Given the description of an element on the screen output the (x, y) to click on. 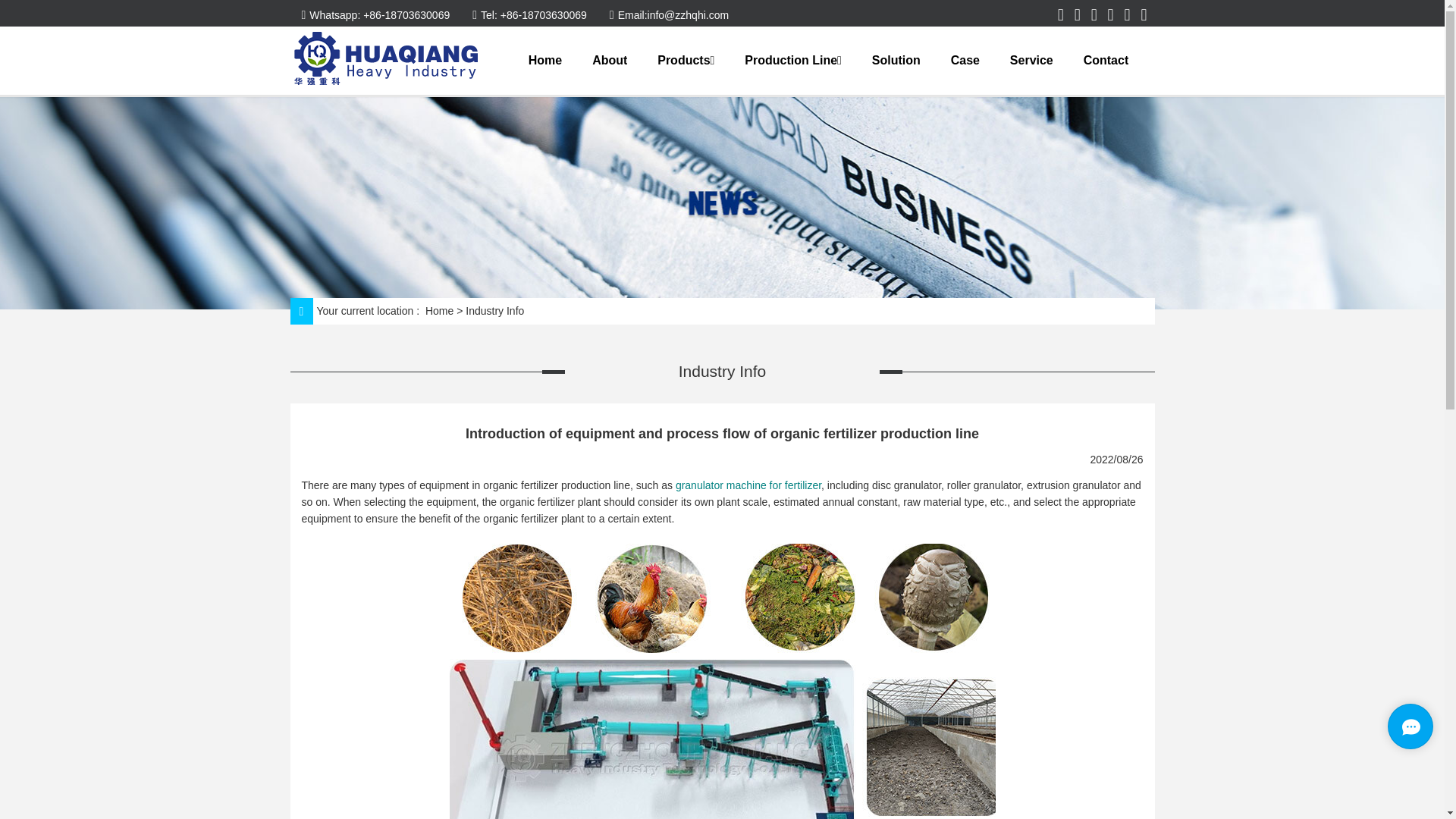
granulator machine for fertilizer (748, 485)
logo (387, 59)
Production Line (792, 60)
Home (438, 311)
Industry Info (494, 311)
